Given the description of an element on the screen output the (x, y) to click on. 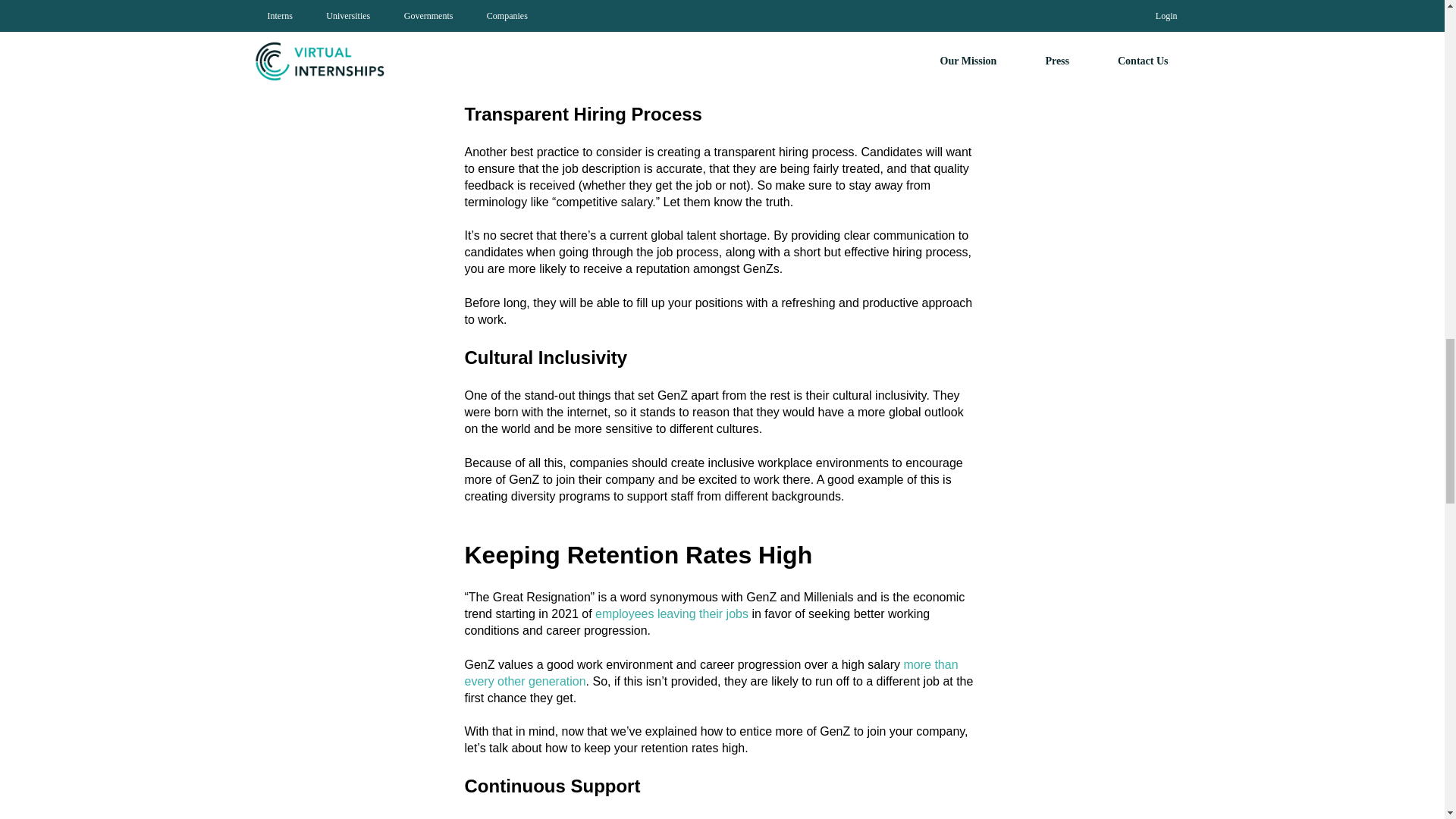
more than every other generation (711, 672)
employees leaving their jobs (671, 613)
